Given the description of an element on the screen output the (x, y) to click on. 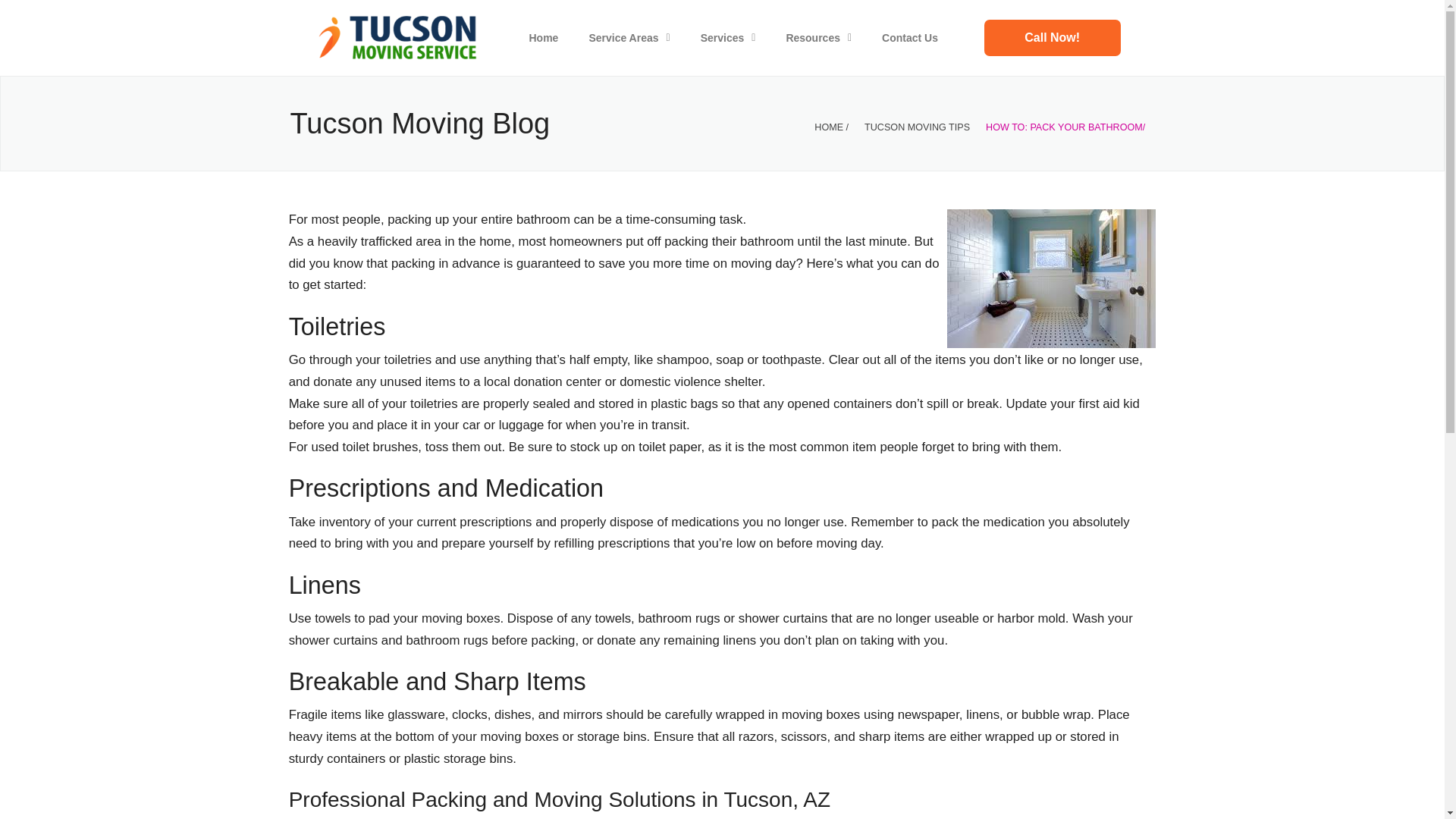
Services (728, 37)
Resources (818, 37)
Service Areas (628, 37)
Home (543, 37)
Contact Us (1052, 37)
